Given the description of an element on the screen output the (x, y) to click on. 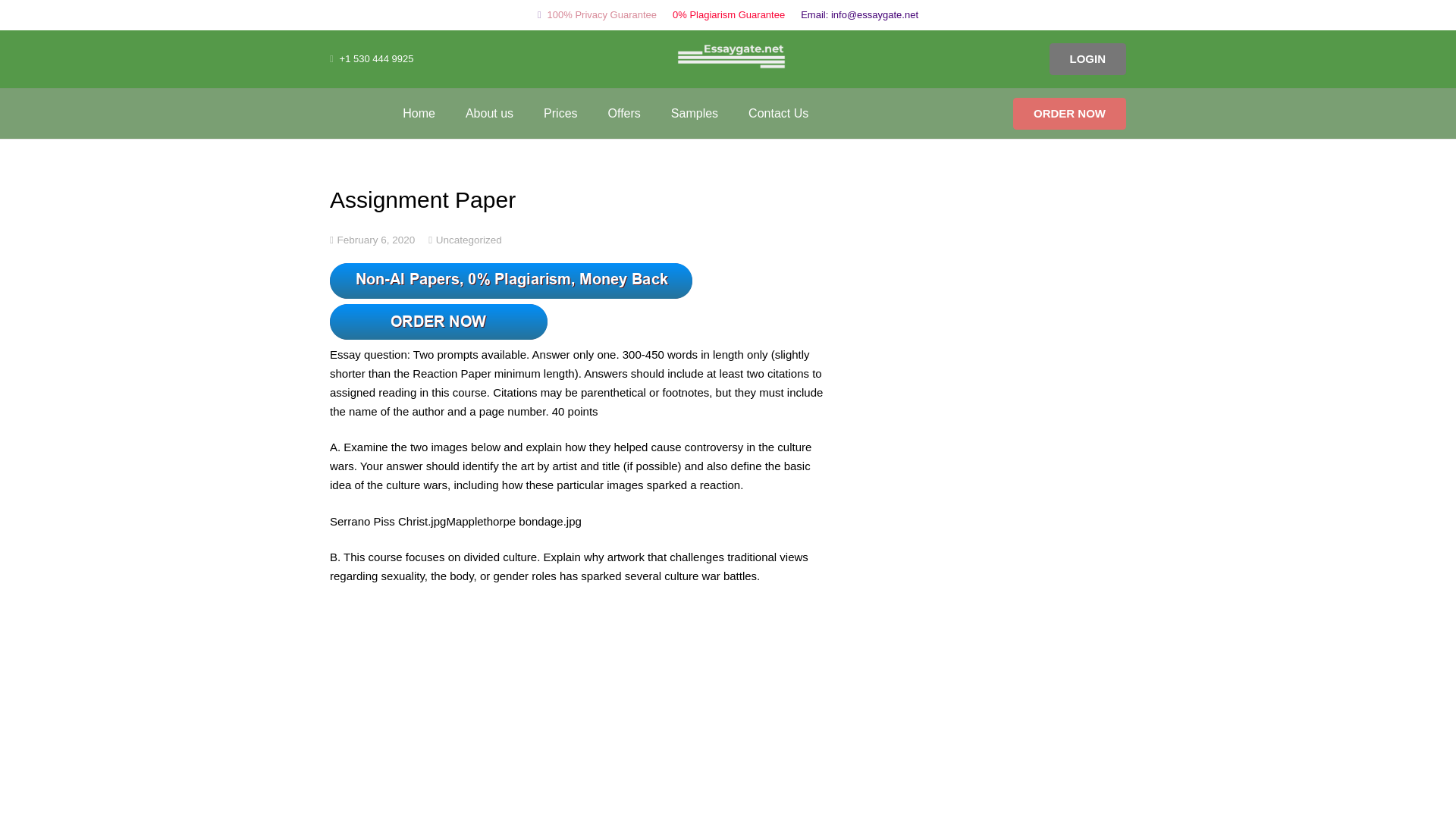
ORDER NOW (1069, 112)
About us (488, 112)
Contact Us (778, 112)
Home (418, 112)
Offers (624, 112)
LOGIN (1087, 59)
Uncategorized (468, 238)
Samples (694, 112)
Prices (560, 112)
